Given the description of an element on the screen output the (x, y) to click on. 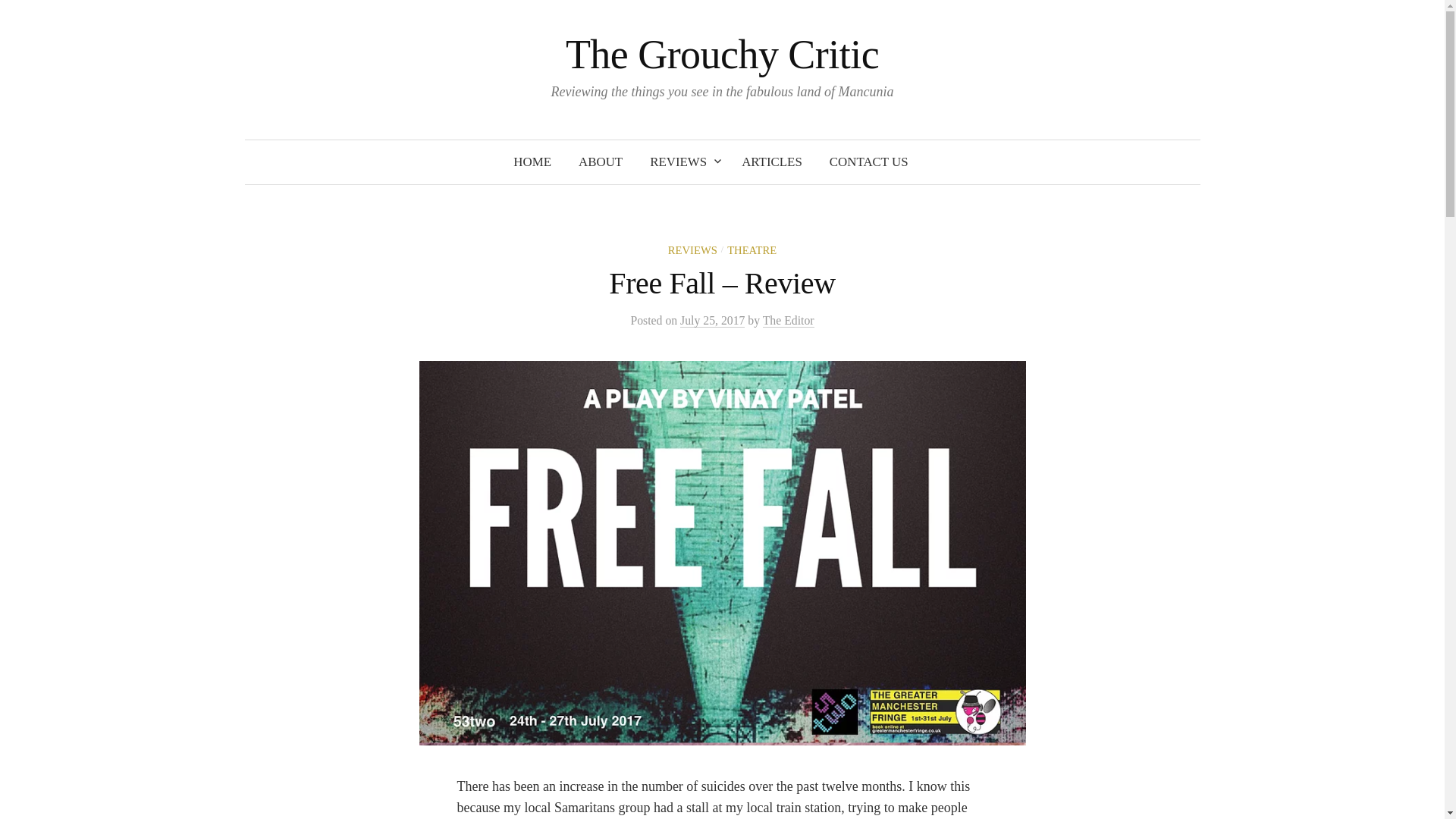
THEATRE (751, 250)
CONTACT US (868, 162)
REVIEWS (692, 250)
REVIEWS (682, 162)
July 25, 2017 (711, 320)
ARTICLES (771, 162)
The Editor (787, 320)
The Grouchy Critic (722, 53)
HOME (531, 162)
View all posts by The Editor (787, 320)
